Given the description of an element on the screen output the (x, y) to click on. 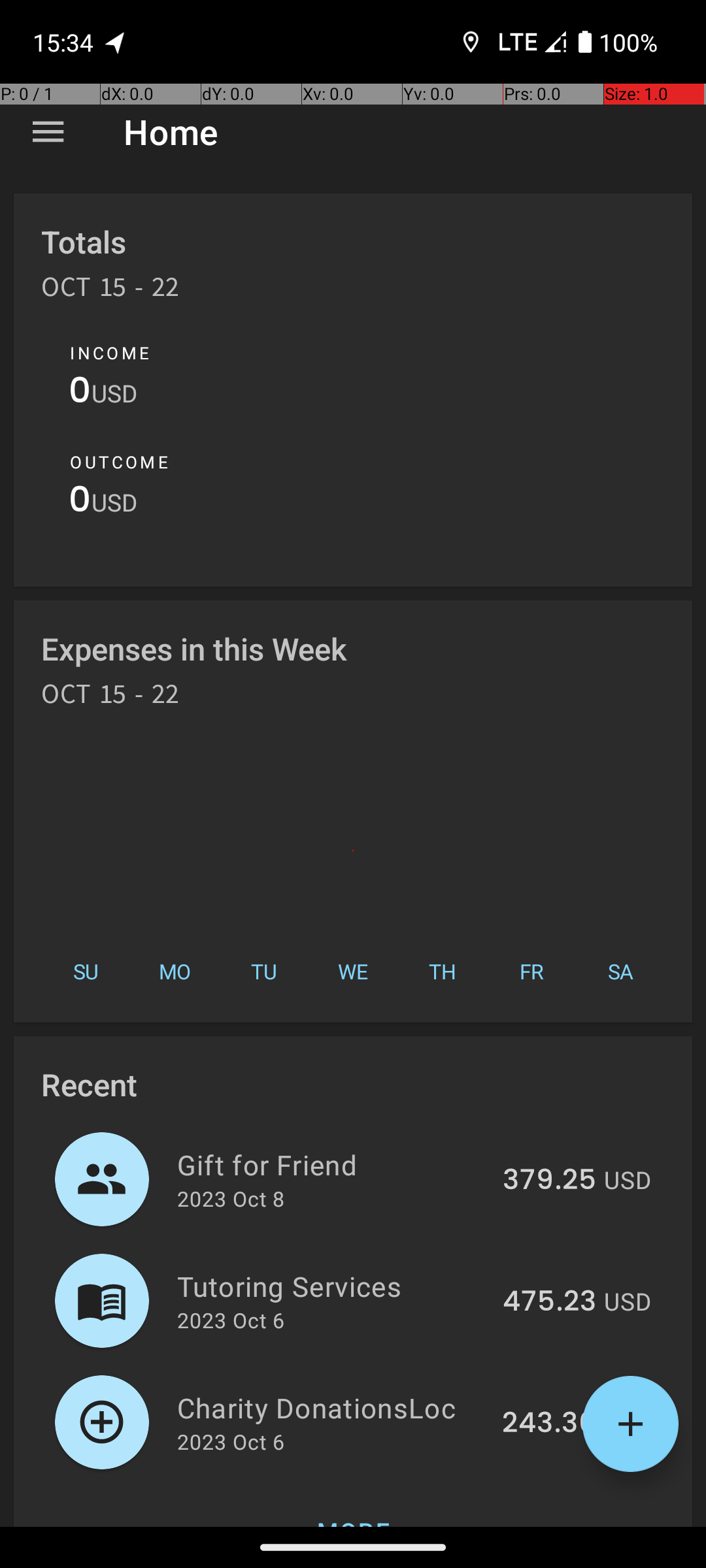
379.25 Element type: android.widget.TextView (549, 1180)
Tutoring Services Element type: android.widget.TextView (332, 1285)
2023 Oct 6 Element type: android.widget.TextView (230, 1320)
475.23 Element type: android.widget.TextView (549, 1301)
Charity DonationsLoc Element type: android.widget.TextView (331, 1407)
243.36 Element type: android.widget.TextView (548, 1423)
